Given the description of an element on the screen output the (x, y) to click on. 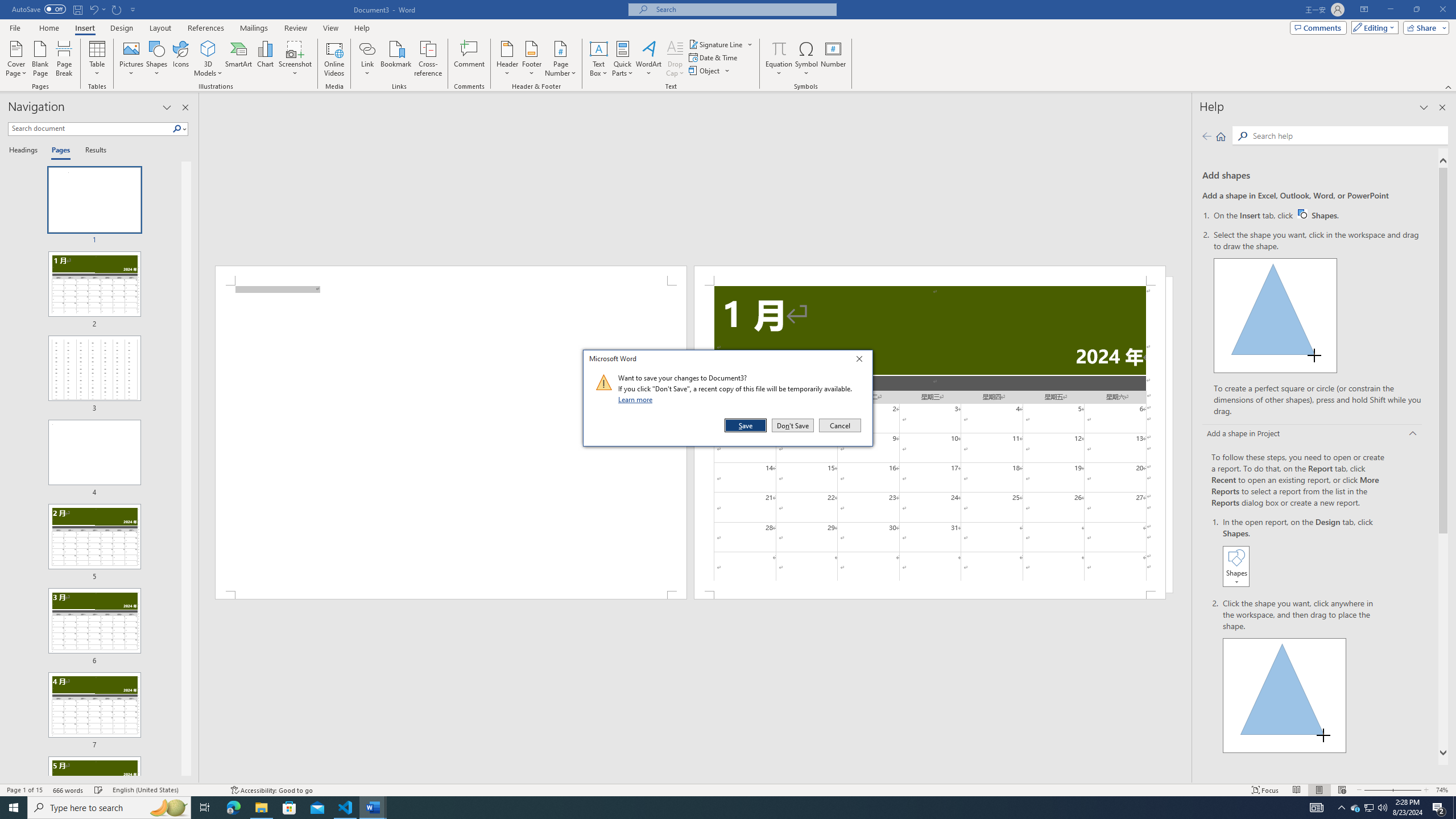
Object... (705, 69)
Header -Section 1- (930, 275)
Undo New Page (92, 9)
Insert Shapes button (1236, 566)
User Promoted Notification Area (1368, 807)
Header (1368, 807)
Task View (507, 58)
Chart... (204, 807)
